Given the description of an element on the screen output the (x, y) to click on. 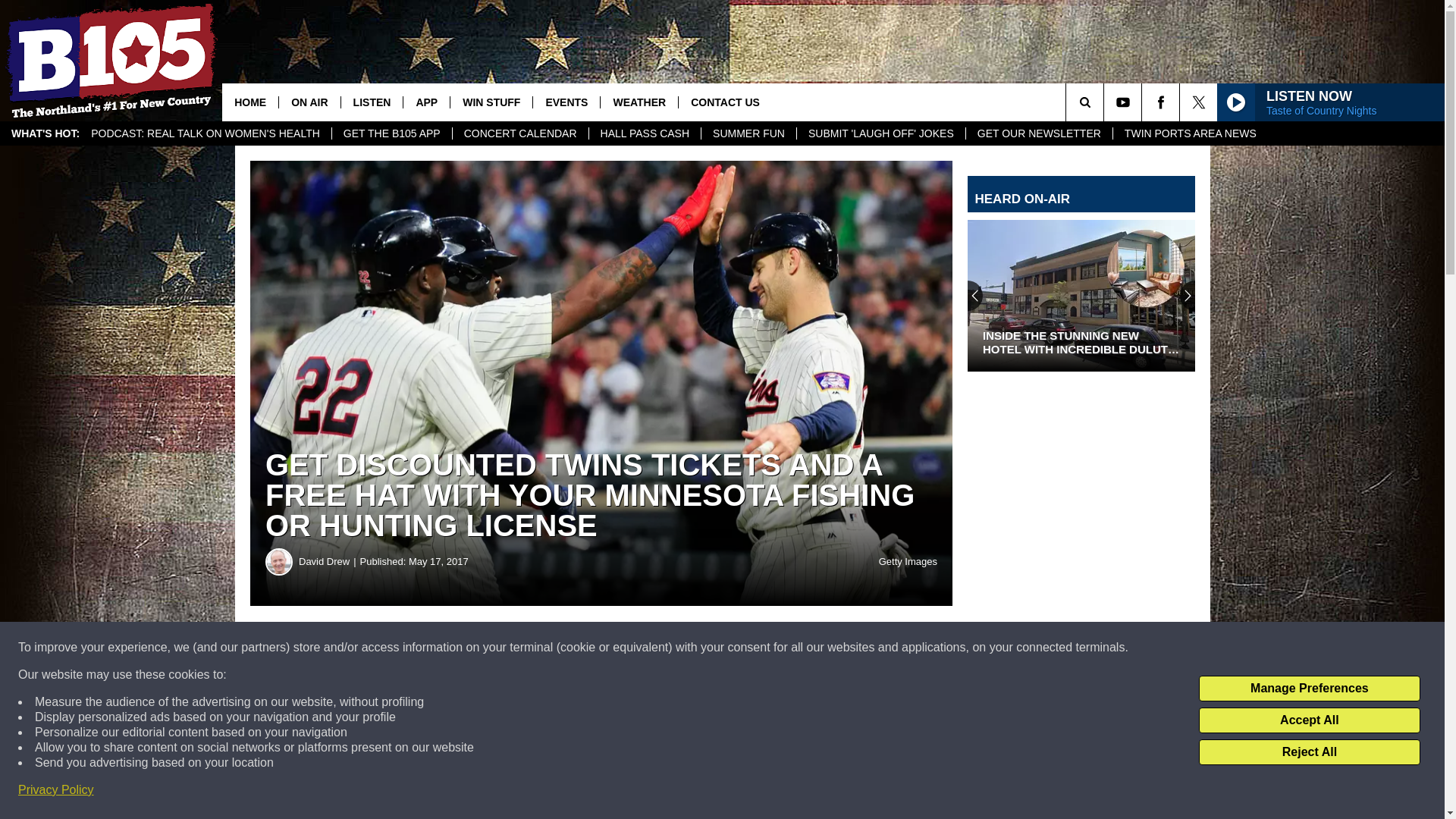
APP (426, 102)
CONCERT CALENDAR (519, 133)
GET THE B105 APP (391, 133)
Privacy Policy (55, 789)
Manage Preferences (1309, 688)
Share on Facebook (460, 647)
TWIN PORTS AREA NEWS (1190, 133)
GET OUR NEWSLETTER (1038, 133)
SUBMIT 'LAUGH OFF' JOKES (880, 133)
HOME (250, 102)
